Given the description of an element on the screen output the (x, y) to click on. 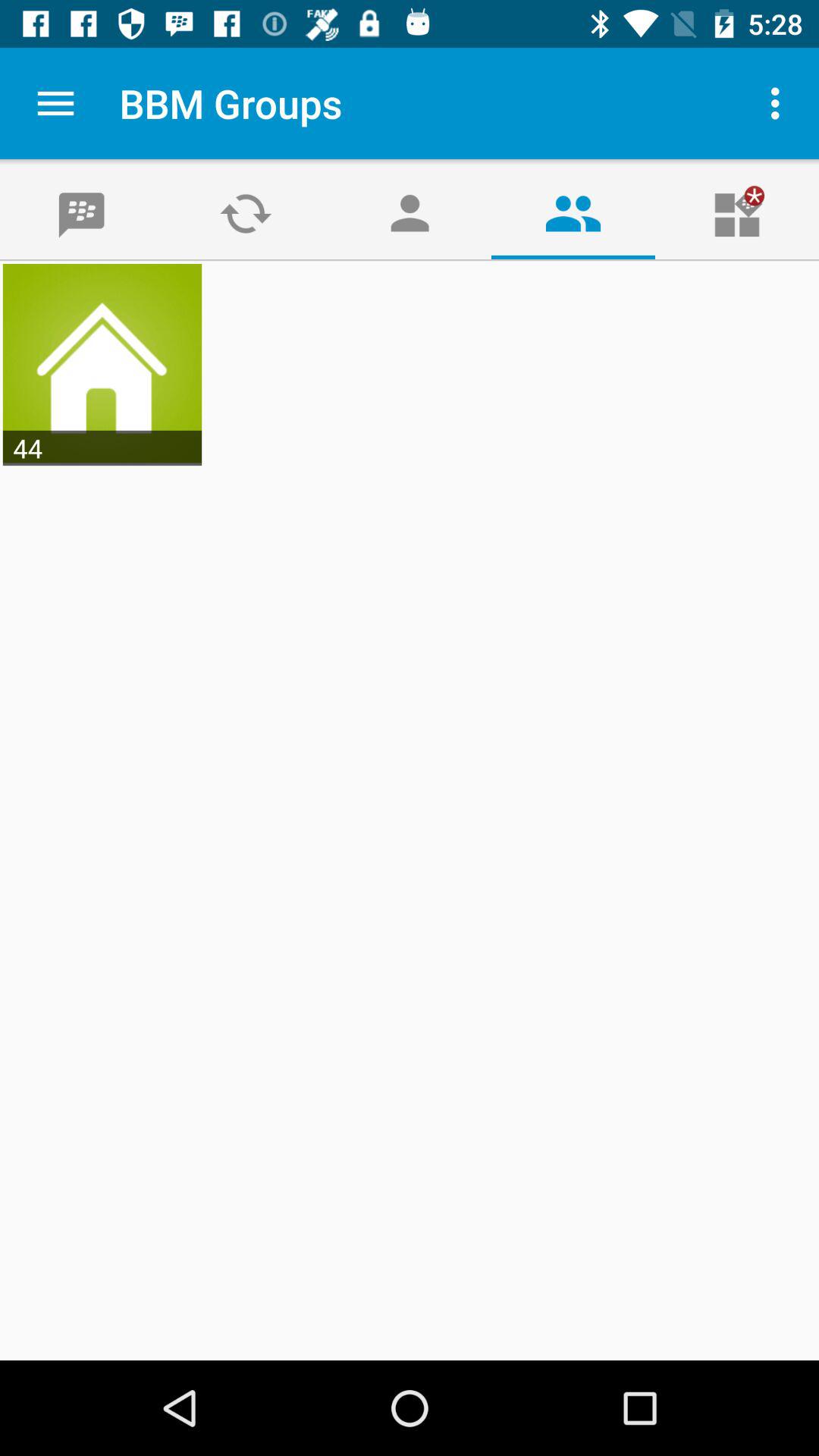
tap the icon to the left of bbm groups icon (55, 103)
